Given the description of an element on the screen output the (x, y) to click on. 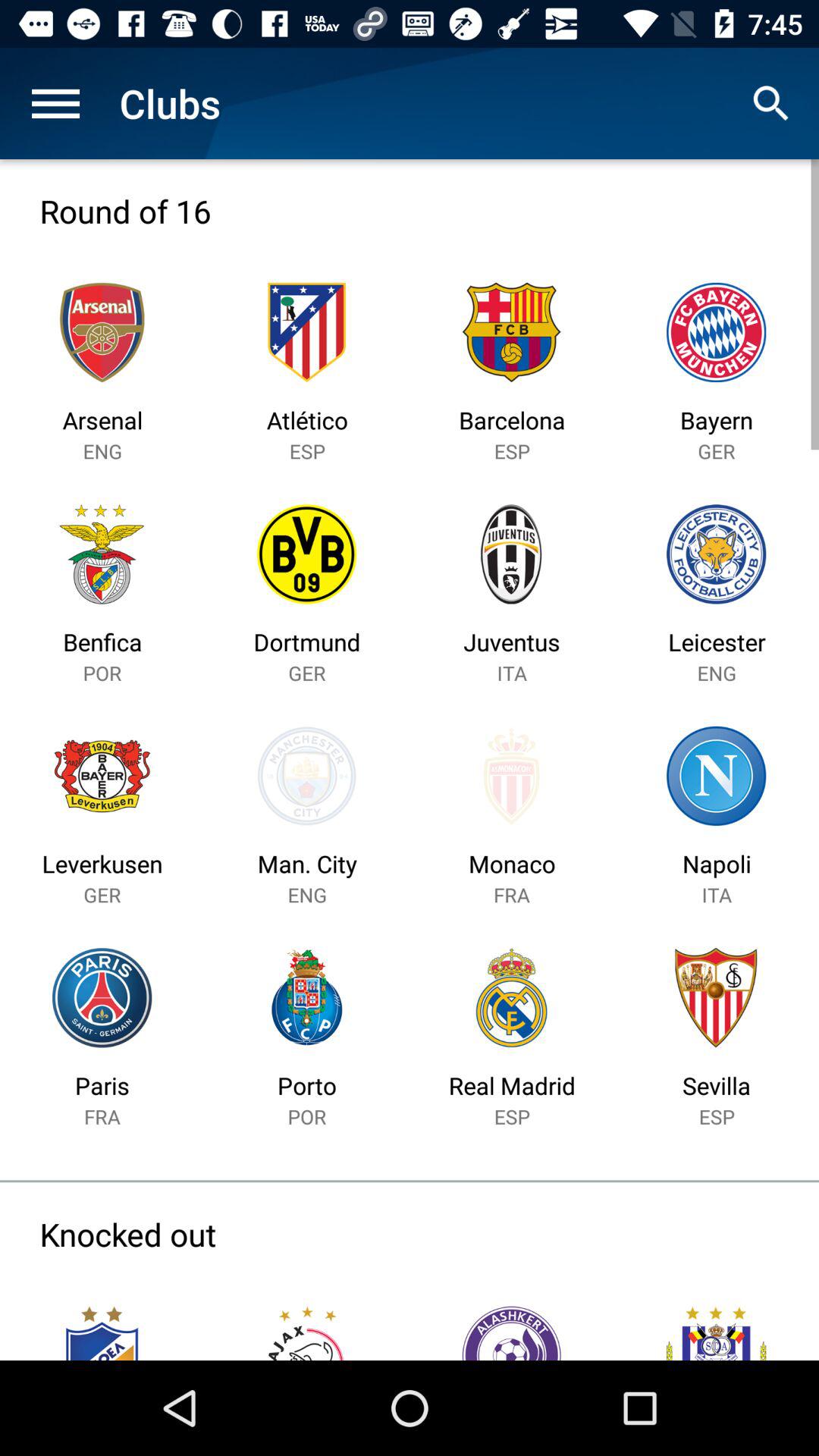
select the item above round of 16 icon (55, 103)
